Given the description of an element on the screen output the (x, y) to click on. 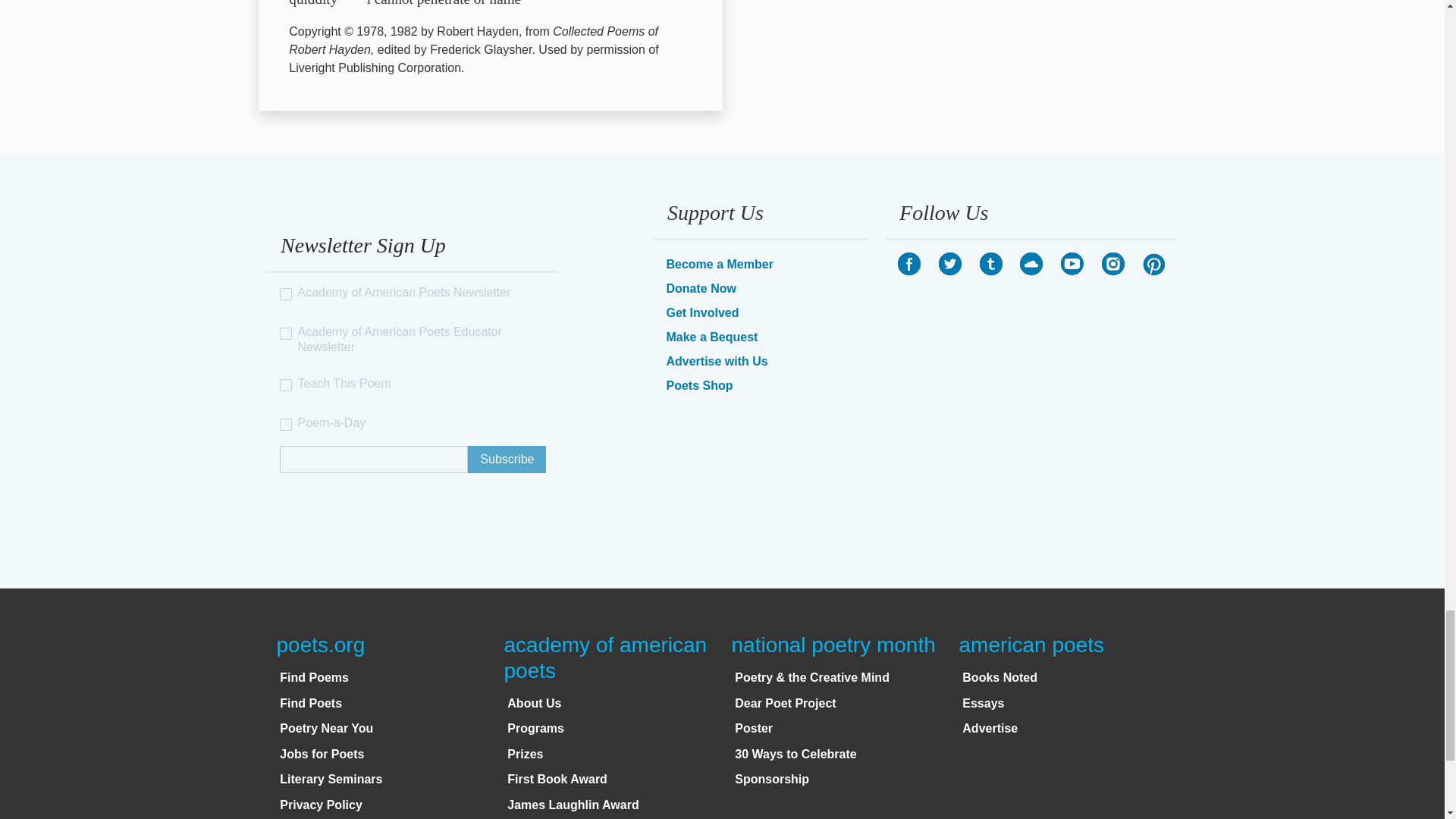
Jobs for Poets (321, 753)
Privacy Policy (320, 804)
Subscribe (506, 459)
Literary Seminars (330, 779)
Poetry Near You (325, 727)
